Given the description of an element on the screen output the (x, y) to click on. 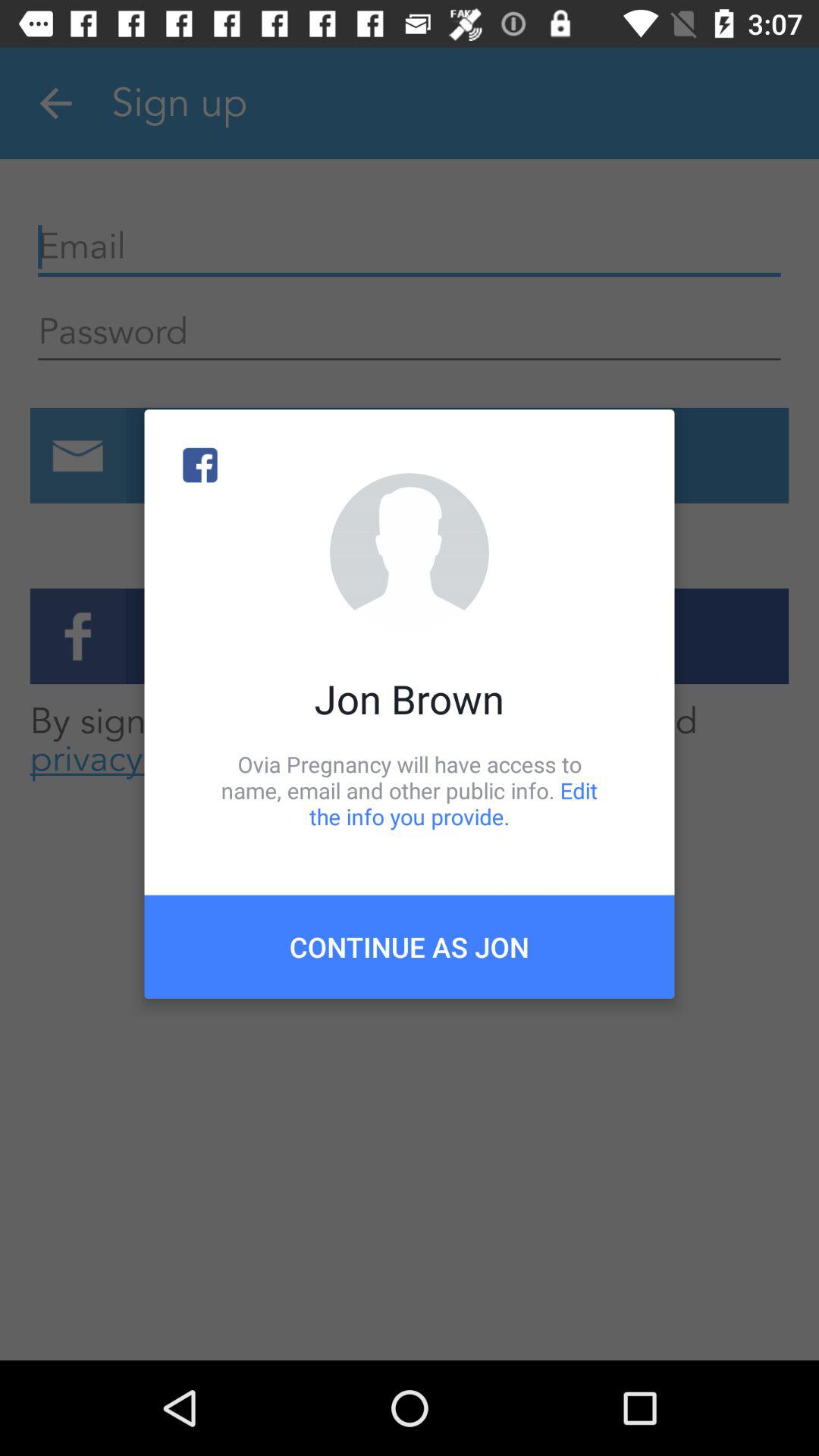
press ovia pregnancy will item (409, 790)
